Given the description of an element on the screen output the (x, y) to click on. 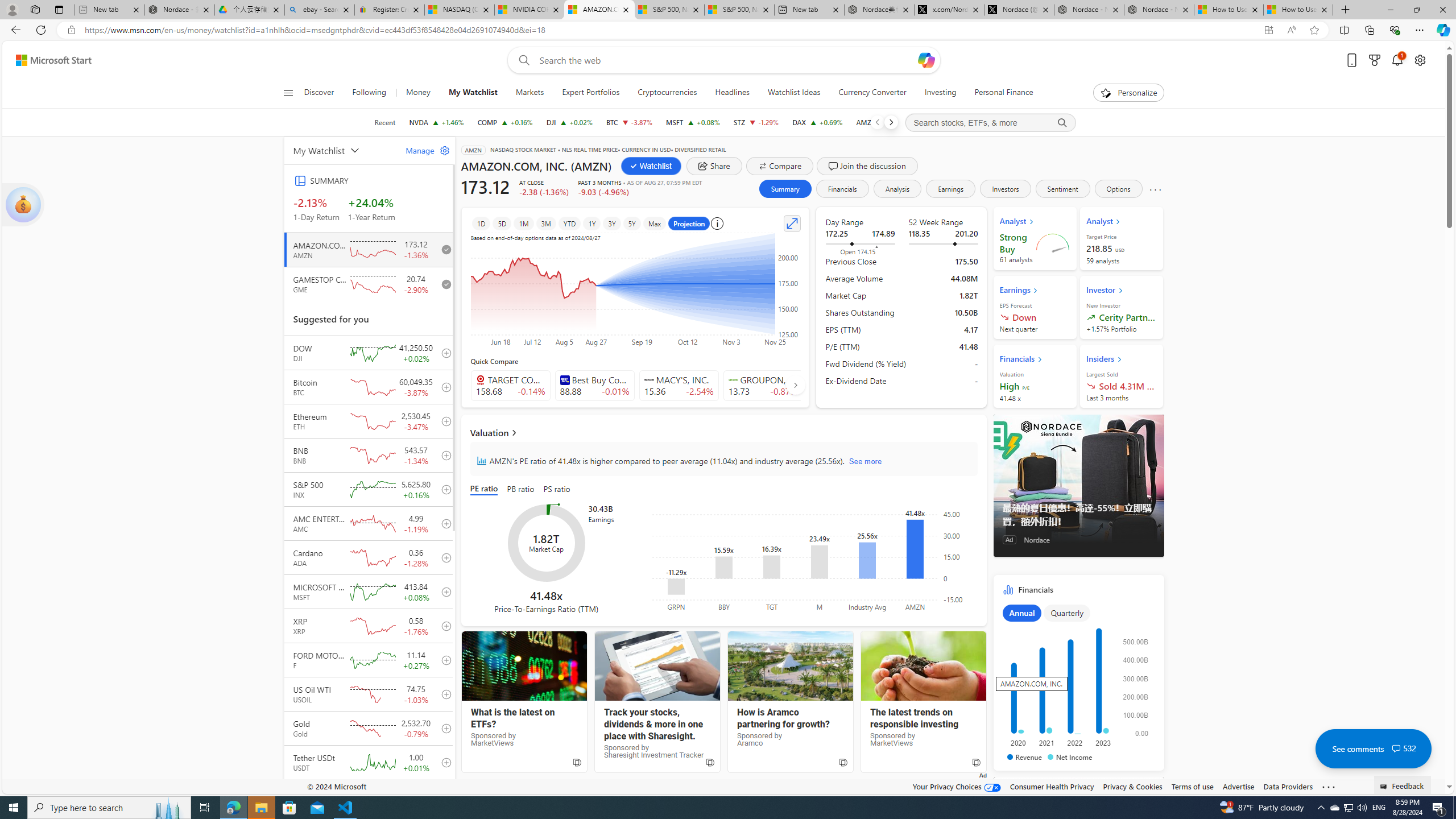
Discover (319, 92)
Notifications (1397, 60)
Watchlist Ideas (794, 92)
Advertise (1238, 785)
Sharesight Investment Tracker (657, 666)
DAX DAX increase 18,810.38 +128.57 +0.69% (817, 122)
Terms of use (1192, 786)
